Given the description of an element on the screen output the (x, y) to click on. 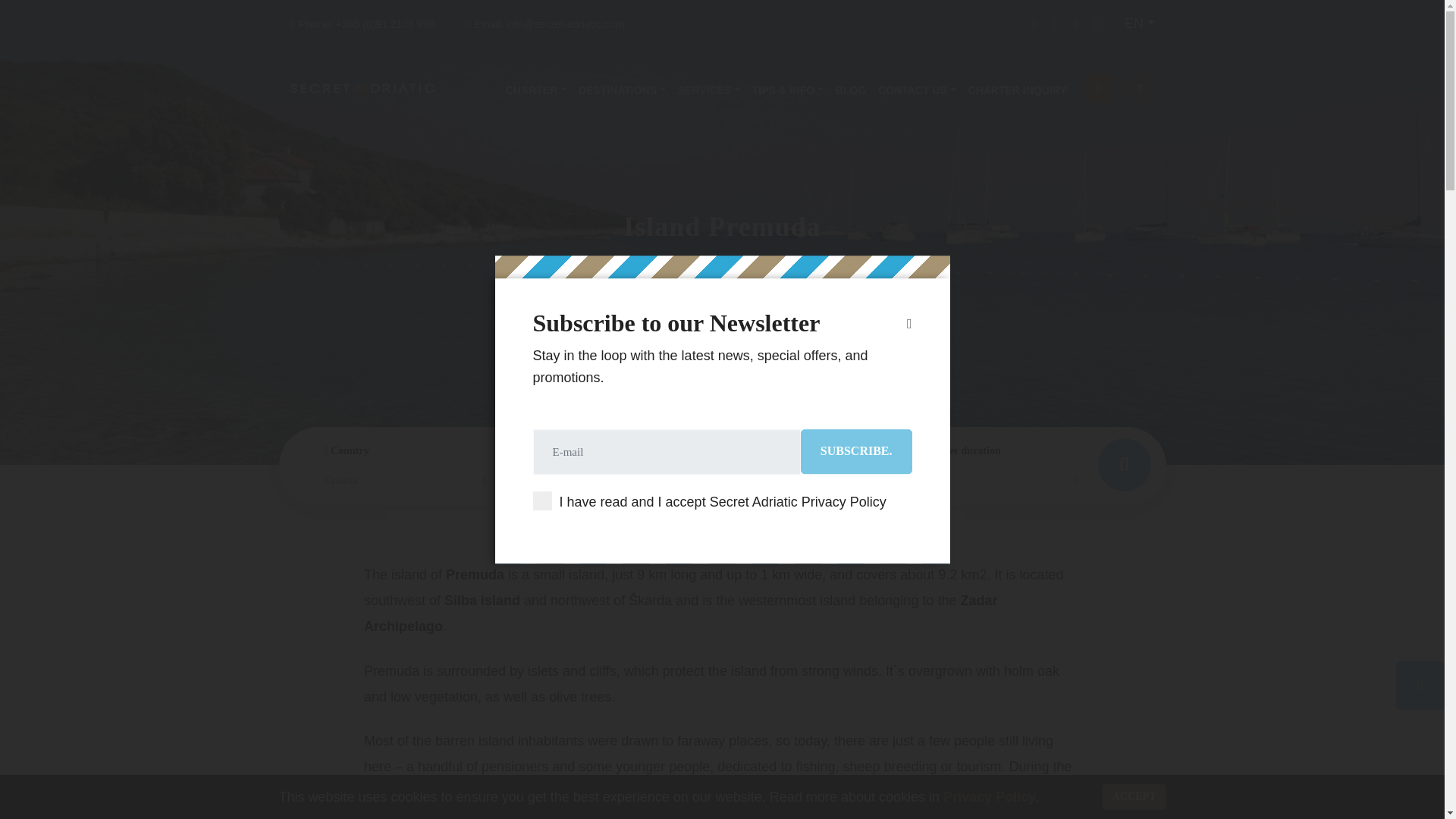
Croatia (405, 479)
all Boat Type (603, 479)
7 days (997, 479)
